Given the description of an element on the screen output the (x, y) to click on. 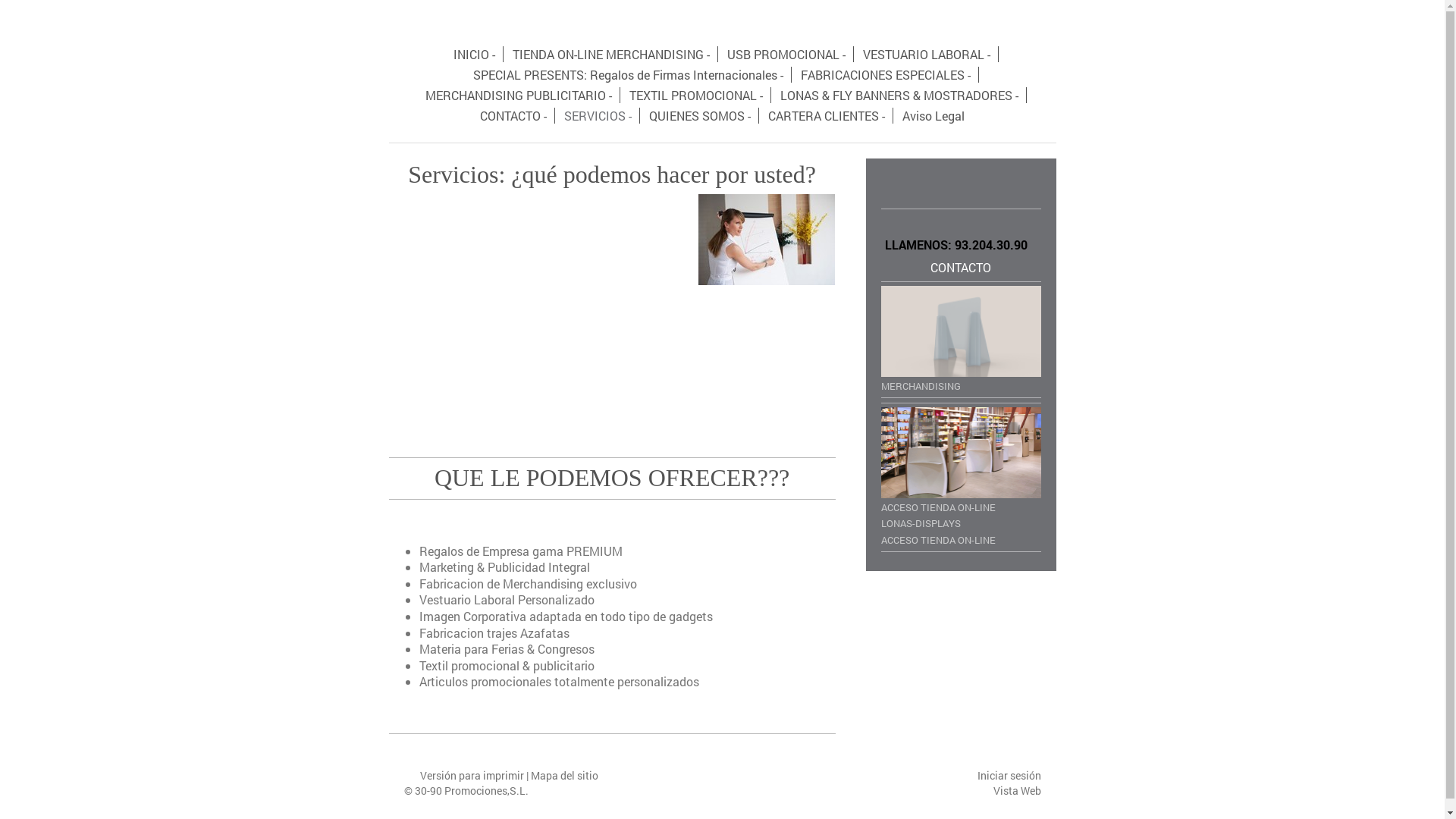
LONAS-DISPLAYS Element type: hover (961, 522)
SPECIAL PRESENTS: Regalos de Firmas Internacionales - Element type: text (628, 74)
MERCHANDISING Element type: hover (961, 338)
FABRICACIONES ESPECIALES - Element type: text (886, 74)
contacto Element type: text (480, 720)
LONAS & FLY BANNERS & MOSTRADORES - Element type: text (899, 95)
CARTERA CLIENTES - Element type: text (826, 115)
Mapa del sitio Element type: text (564, 775)
TIENDA ON-LINE MERCHANDISING - Element type: text (611, 54)
Vista Web Element type: text (1017, 790)
INICIO - Element type: text (474, 54)
VESTUARIO LABORAL - Element type: text (926, 54)
SERVICIOS - Element type: text (598, 115)
CONTACTO - Element type: text (513, 115)
ACCESO TIENDA ON-LINE Element type: hover (961, 538)
ACCESO TIENDA ON-LINE Element type: hover (961, 460)
Aviso Legal Element type: text (933, 115)
QUIENES SOMOS - Element type: text (700, 115)
USB PROMOCIONAL - Element type: text (786, 54)
MERCHANDISING PUBLICITARIO - Element type: text (518, 95)
CONTACTO Element type: text (960, 267)
TEXTIL PROMOCIONAL - Element type: text (696, 95)
